Given the description of an element on the screen output the (x, y) to click on. 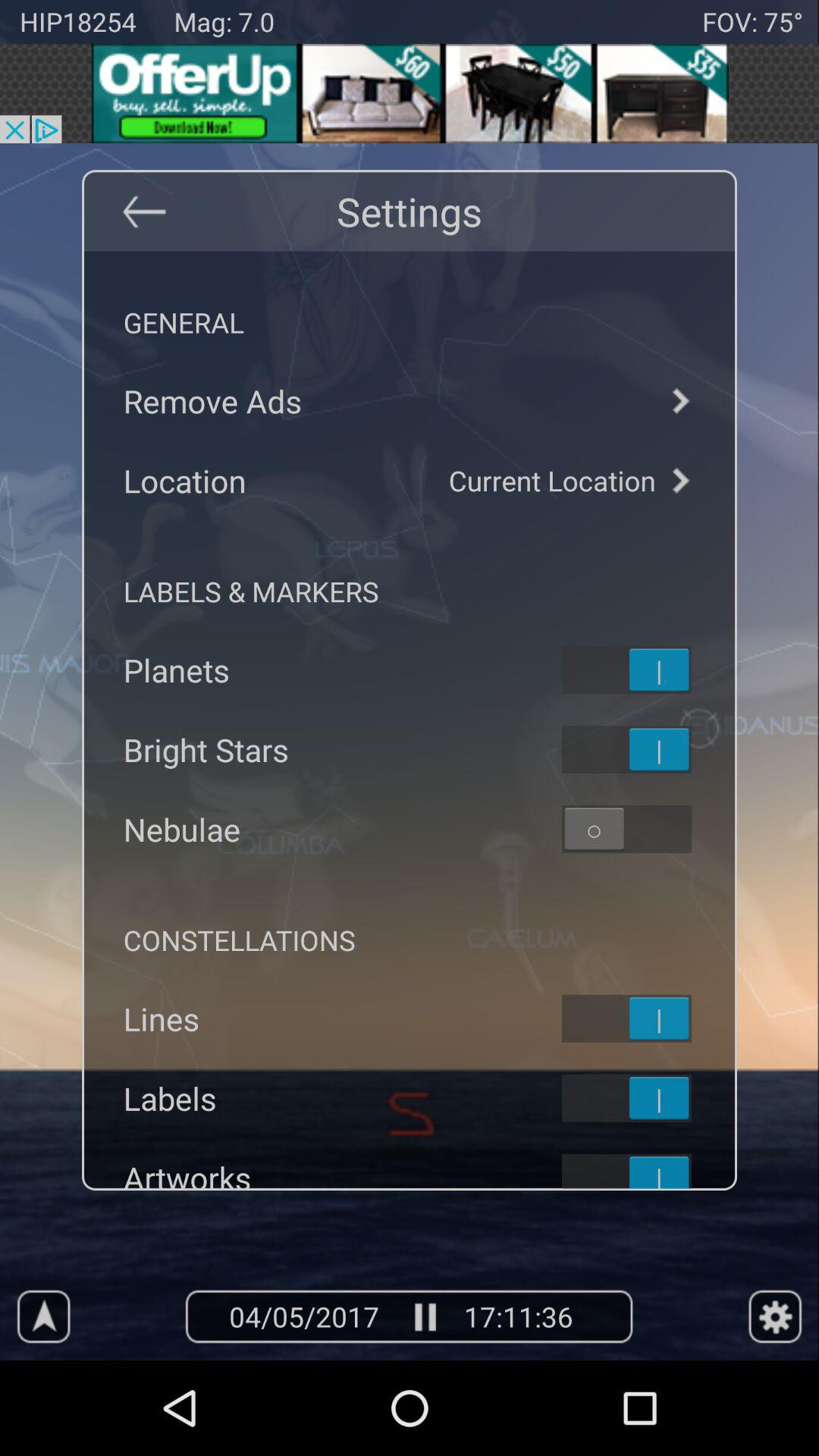
go to next (679, 480)
